Given the description of an element on the screen output the (x, y) to click on. 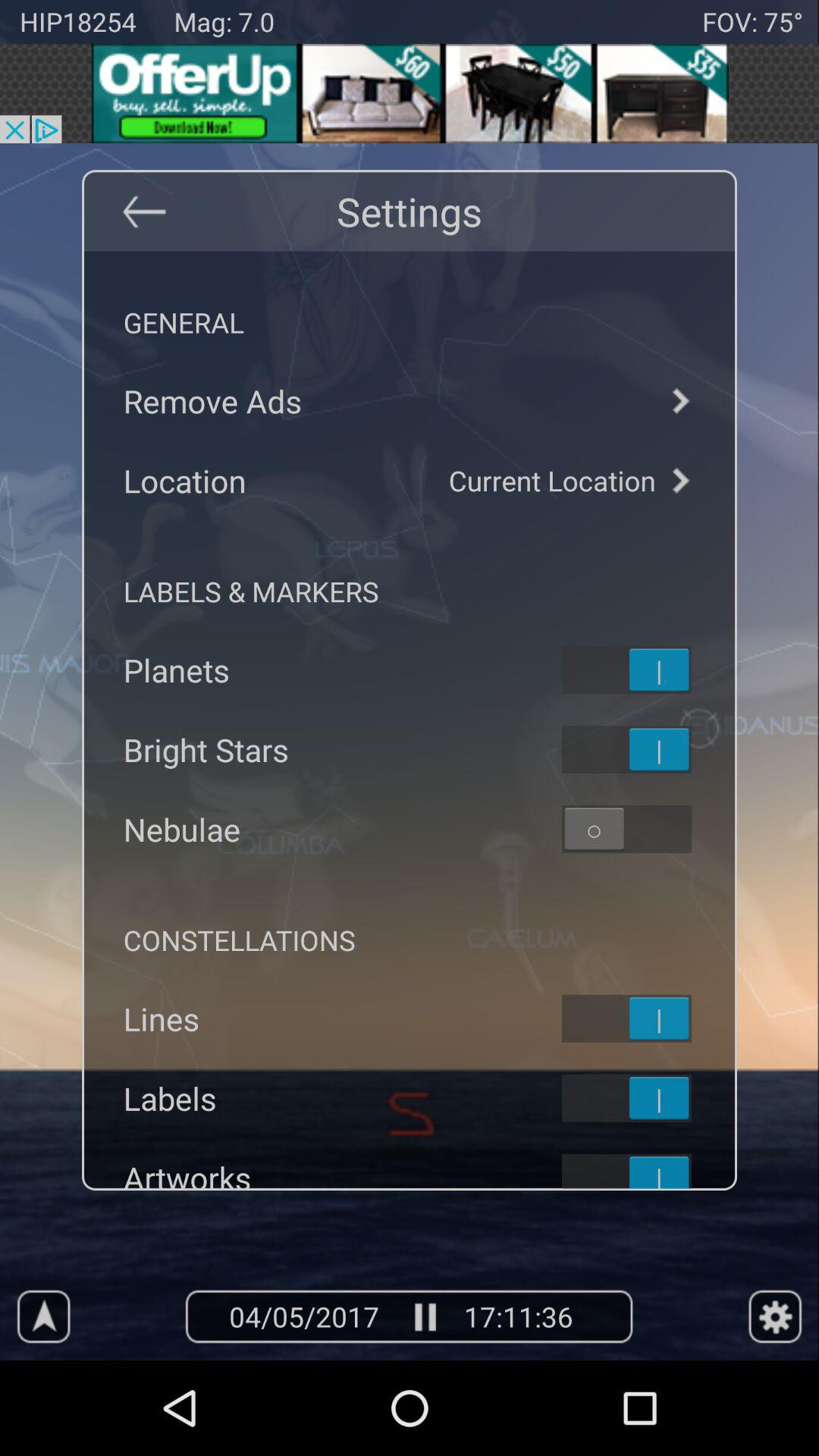
go to next (679, 480)
